Given the description of an element on the screen output the (x, y) to click on. 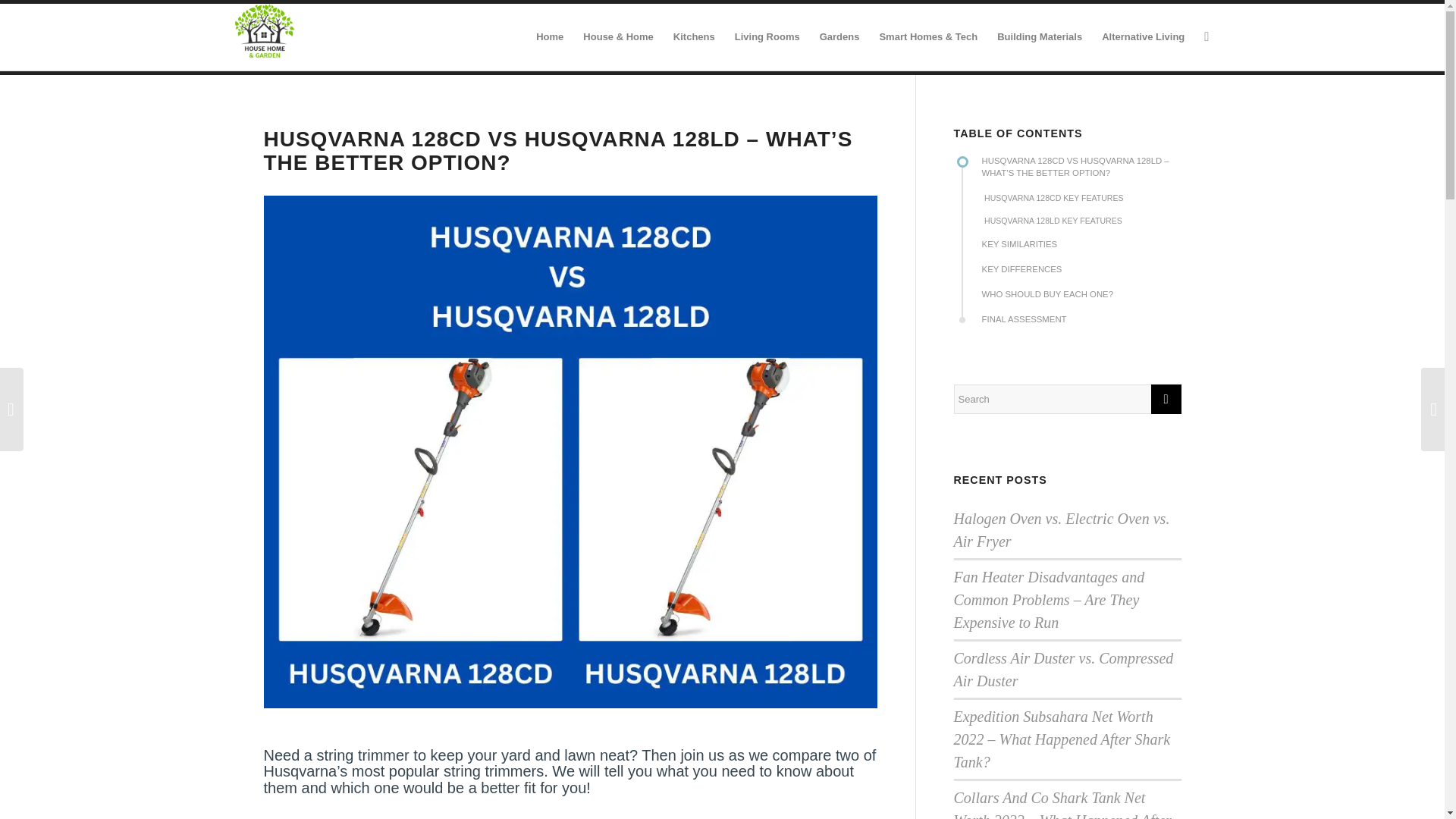
Cordless Air Duster vs. Compressed Air Duster (1063, 669)
Living Rooms (767, 37)
Halogen Oven vs. Electric Oven vs. Air Fryer (1061, 529)
WHO SHOULD BUY EACH ONE? (1078, 301)
KEY DIFFERENCES (1078, 276)
Building Materials (1039, 37)
KEY SIMILARITIES (1078, 251)
Alternative Living (1142, 37)
Kitchens (694, 37)
HUSQVARNA 128LD KEY FEATURES (1078, 227)
Gardens (839, 37)
HUSQVARNA 128CD KEY FEATURES (1078, 204)
FINAL ASSESSMENT (1078, 326)
